Given the description of an element on the screen output the (x, y) to click on. 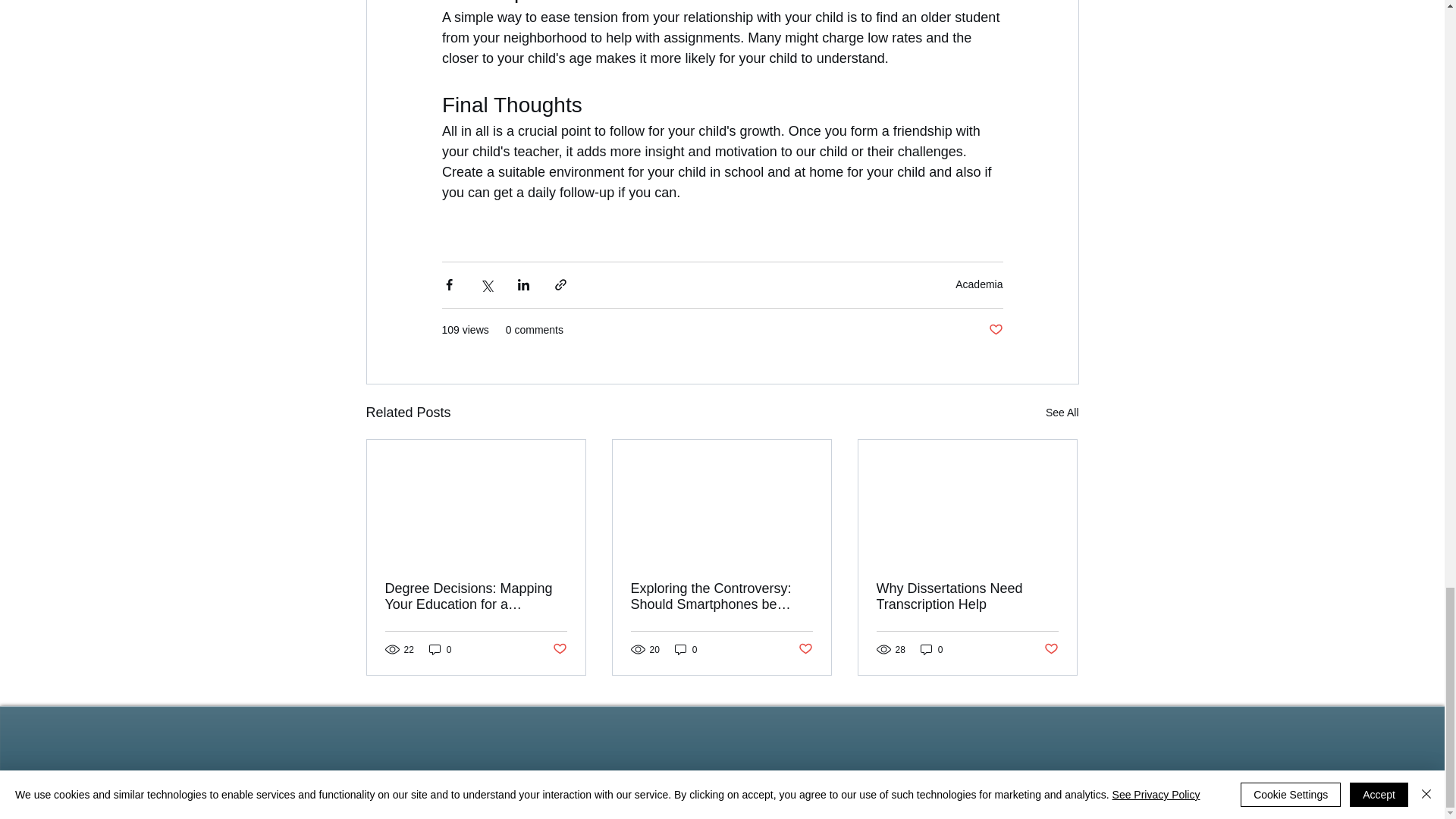
Post not marked as liked (995, 330)
Academia (979, 284)
Post not marked as liked (558, 649)
See All (1061, 413)
0 (440, 649)
